Given the description of an element on the screen output the (x, y) to click on. 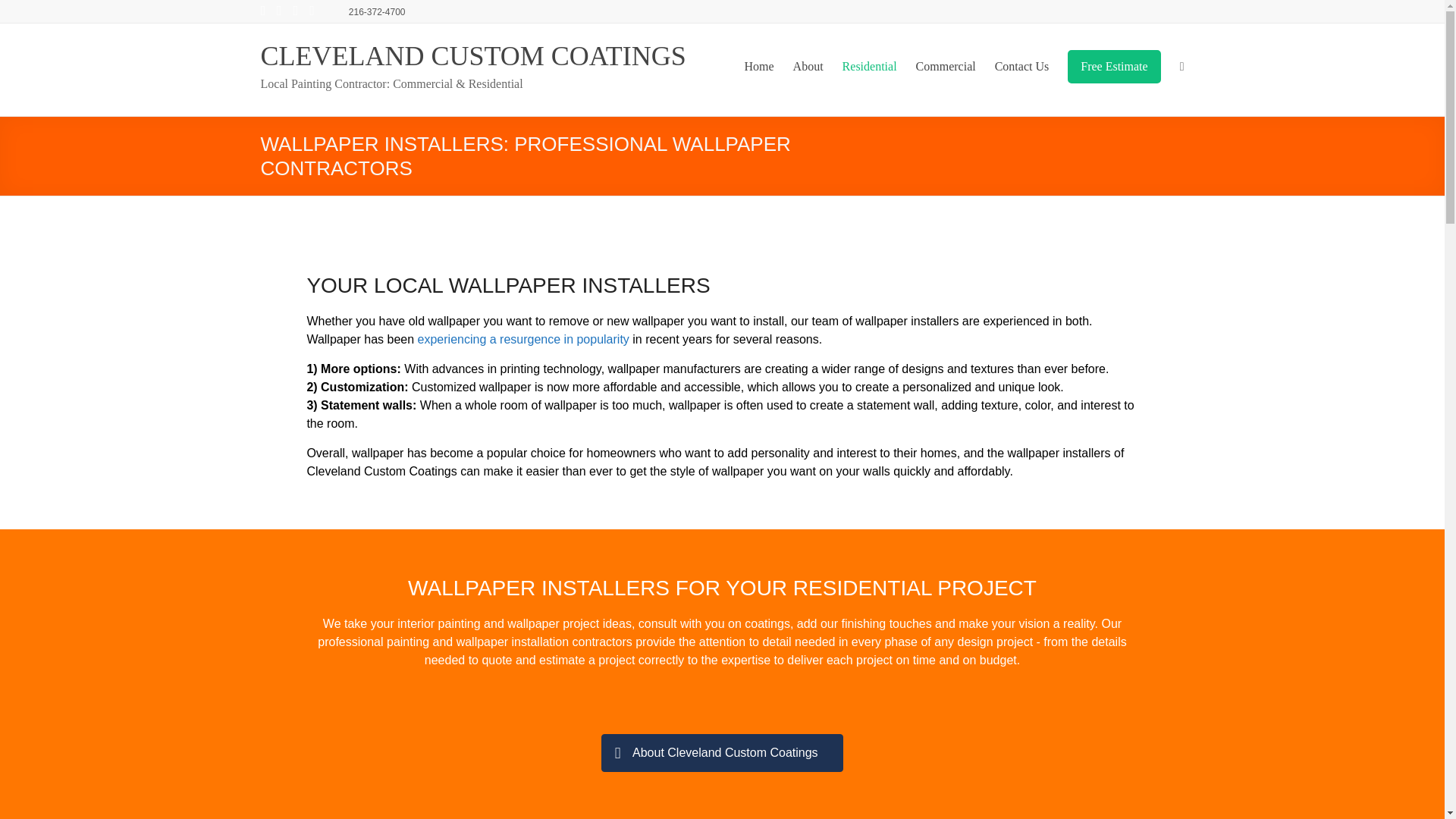
About (808, 66)
Contact Us (1021, 66)
Residential (869, 66)
CLEVELAND CUSTOM COATINGS (472, 55)
Cleveland Custom Coatings (472, 55)
Commercial (945, 66)
experiencing a resurgence in popularity (522, 338)
Home (759, 66)
About Cleveland Custom Coatings (722, 752)
Free Estimate (1113, 66)
